Given the description of an element on the screen output the (x, y) to click on. 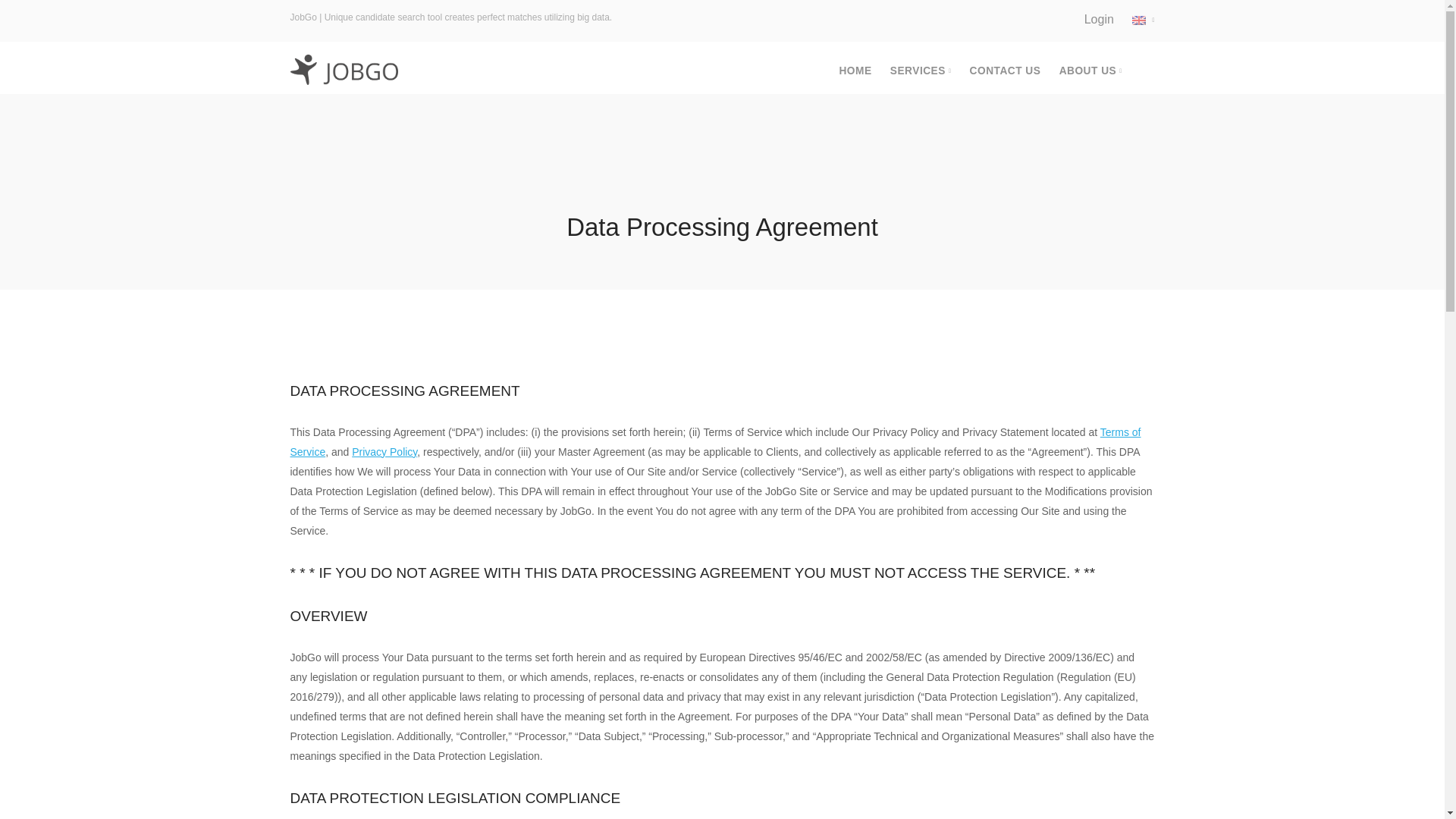
Terms of Service (714, 441)
HOME (854, 70)
ABOUT US (1090, 70)
Login (1098, 19)
SERVICES (919, 70)
Privacy Policy (384, 451)
CONTACT US (1005, 70)
